Given the description of an element on the screen output the (x, y) to click on. 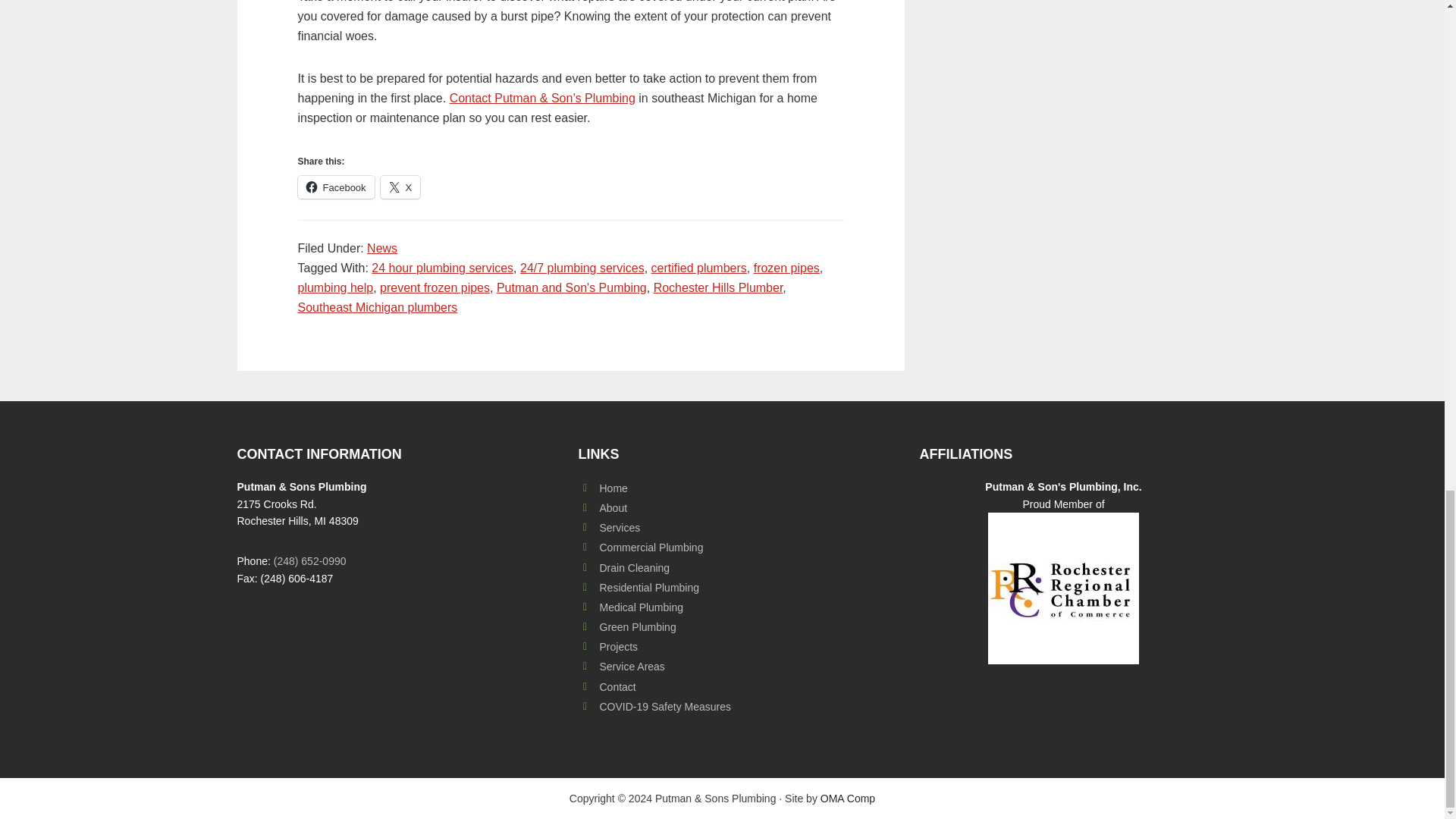
Rochester Regional Chamber of Commerce  (1063, 588)
Click to share on X (400, 187)
Click to share on Facebook (335, 187)
